Given the description of an element on the screen output the (x, y) to click on. 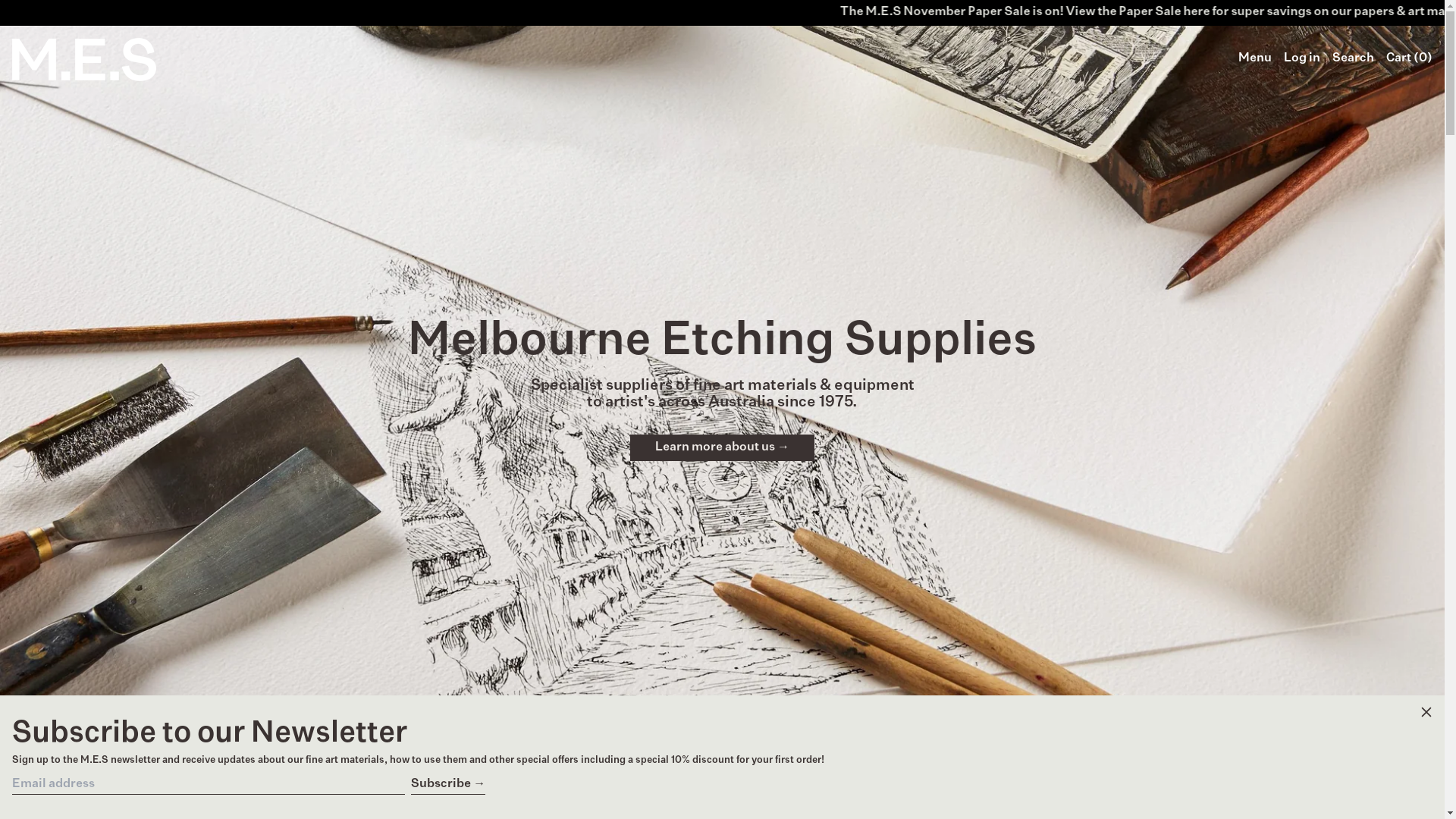
Menu Element type: text (1254, 59)
Cart (0) Element type: text (1409, 59)
Close Element type: text (1426, 714)
Search Element type: text (1353, 59)
Log in Element type: text (1301, 59)
